Given the description of an element on the screen output the (x, y) to click on. 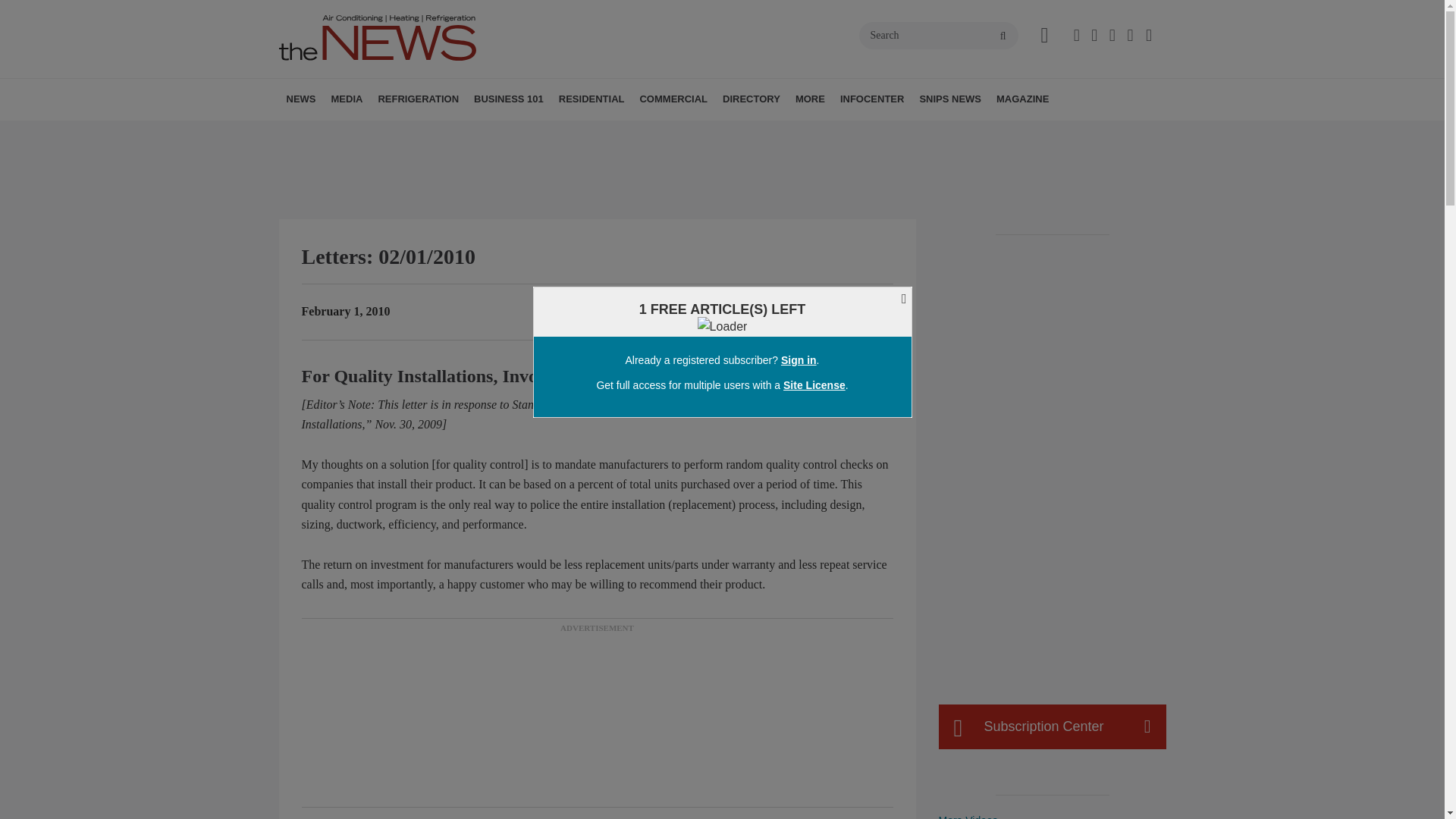
AHR EXPO 2024 VIDEOS (424, 132)
ONLINE POLL (452, 132)
Search (938, 35)
REFRIGERATION (417, 98)
REFRIGERANTS (464, 132)
BREAKING NEWS (373, 132)
MANUFACTURER REPORTS (386, 132)
search (1002, 36)
Search (938, 35)
BUSINESS 101 (508, 98)
